Given the description of an element on the screen output the (x, y) to click on. 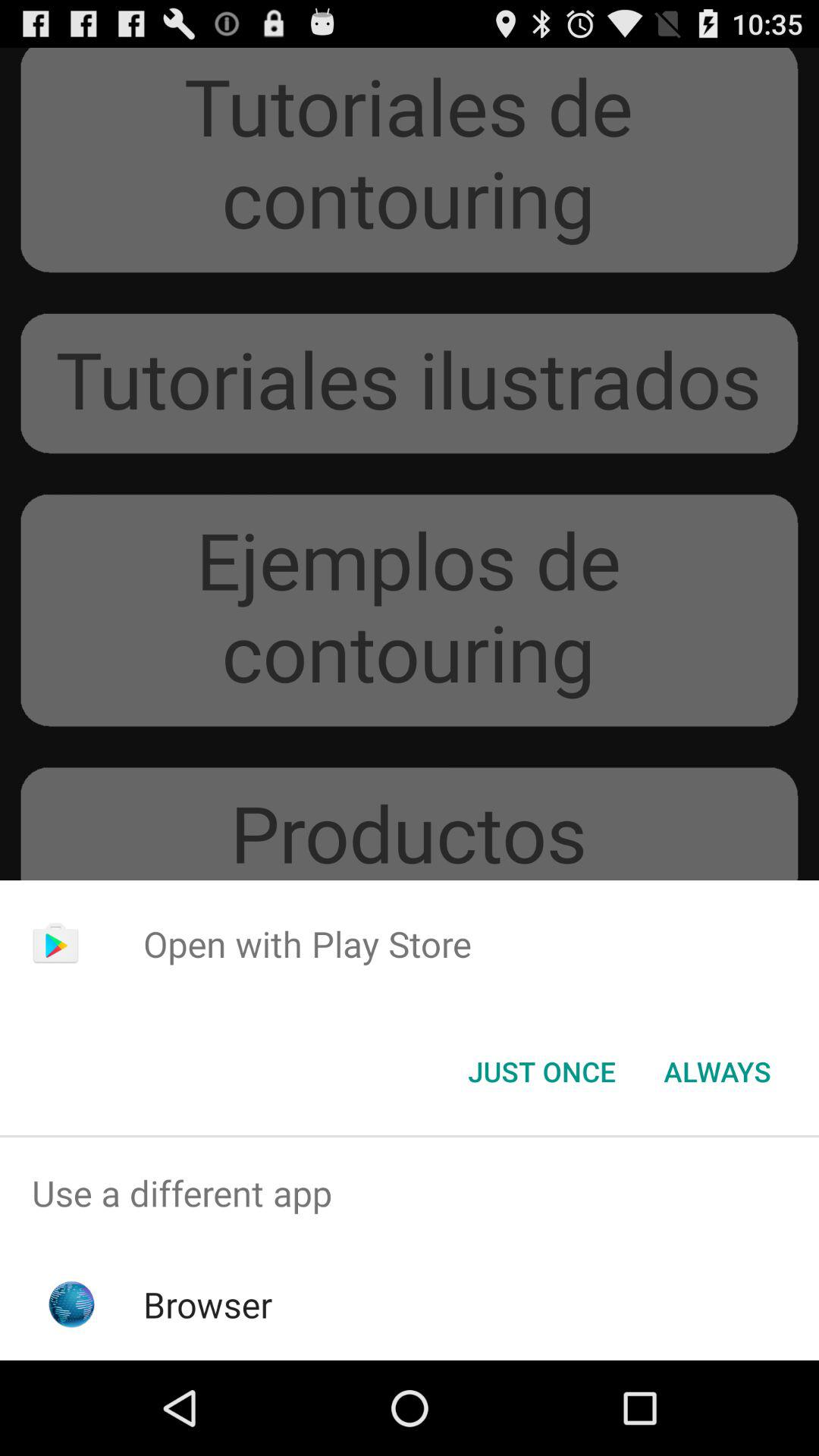
turn on just once icon (541, 1071)
